Given the description of an element on the screen output the (x, y) to click on. 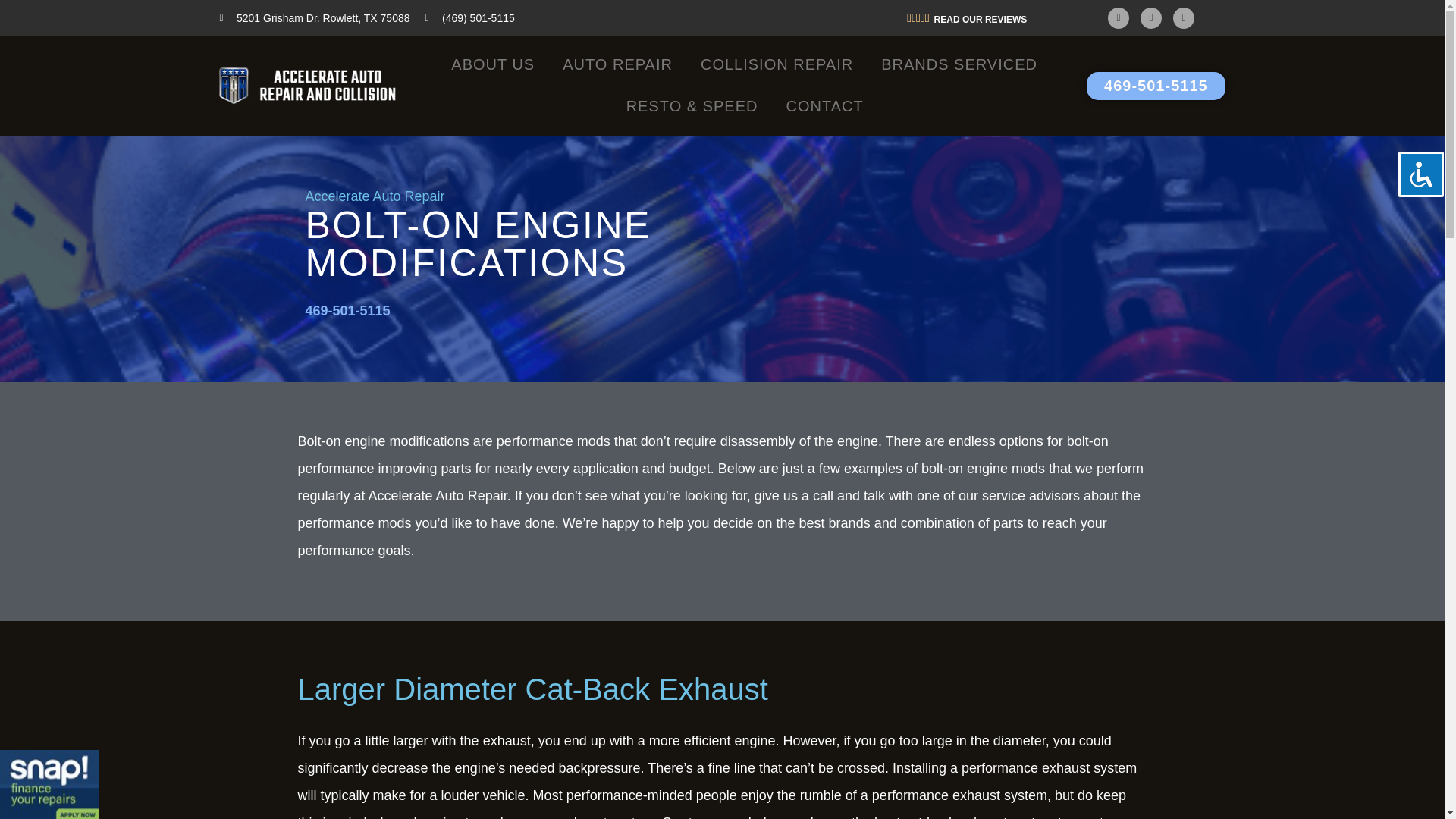
COLLISION REPAIR (776, 64)
ABOUT US (493, 64)
5201 Grisham Dr. Rowlett, TX 75088 (314, 17)
AUTO REPAIR (616, 64)
READ OUR REVIEWS (980, 18)
BRANDS SERVICED (959, 64)
Snap-Button (49, 784)
